Given the description of an element on the screen output the (x, y) to click on. 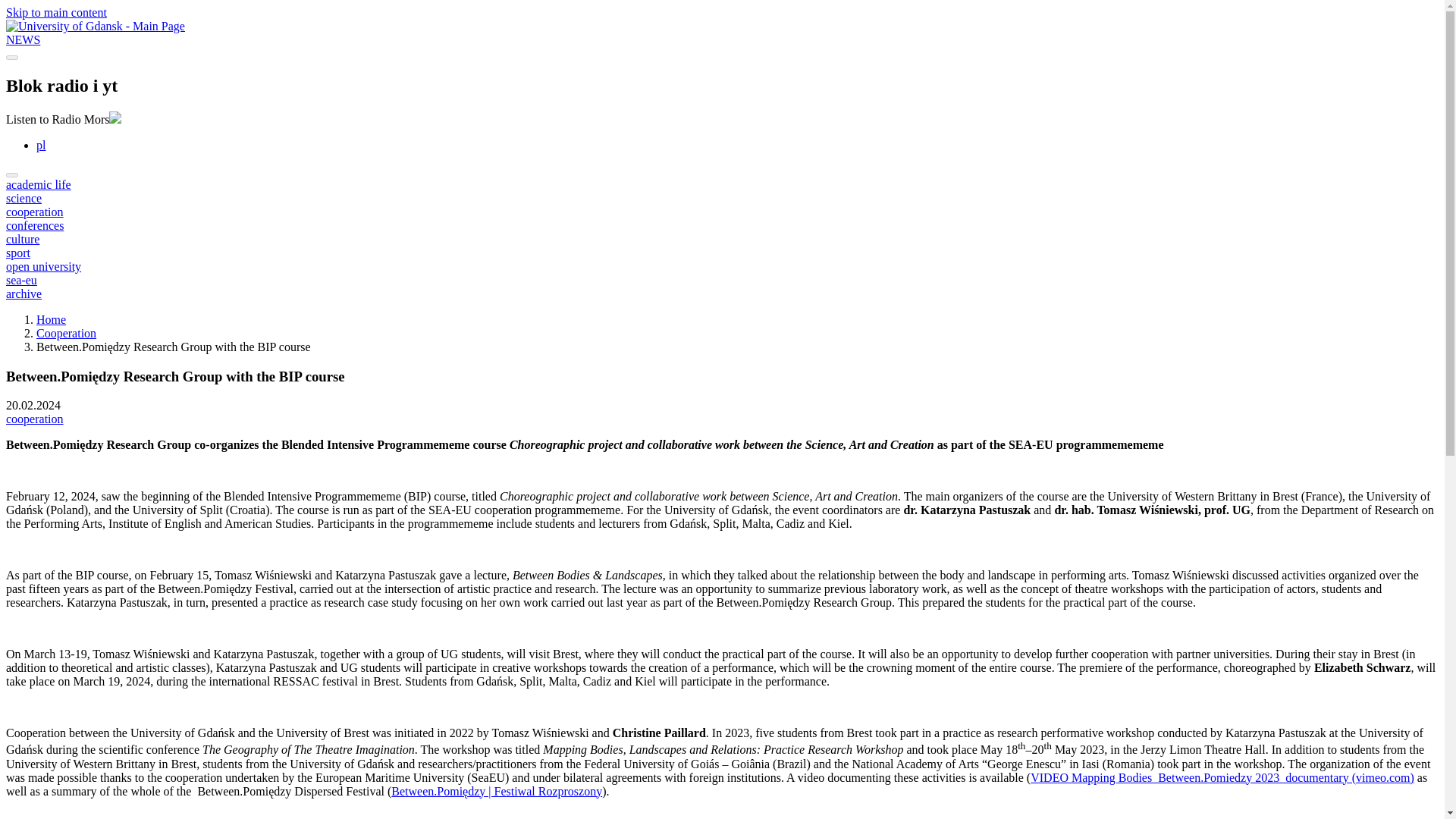
cooperation (34, 211)
conferences (34, 225)
archive (23, 293)
pl (40, 144)
Cooperation (66, 332)
University of Gdansk - Main Page (94, 25)
open university (43, 266)
Skip to main content (55, 11)
Home (50, 318)
culture (22, 238)
cooperation (34, 418)
science (23, 197)
Listen to Radio Mors (62, 119)
sea-eu (21, 279)
academic life (38, 184)
